Given the description of an element on the screen output the (x, y) to click on. 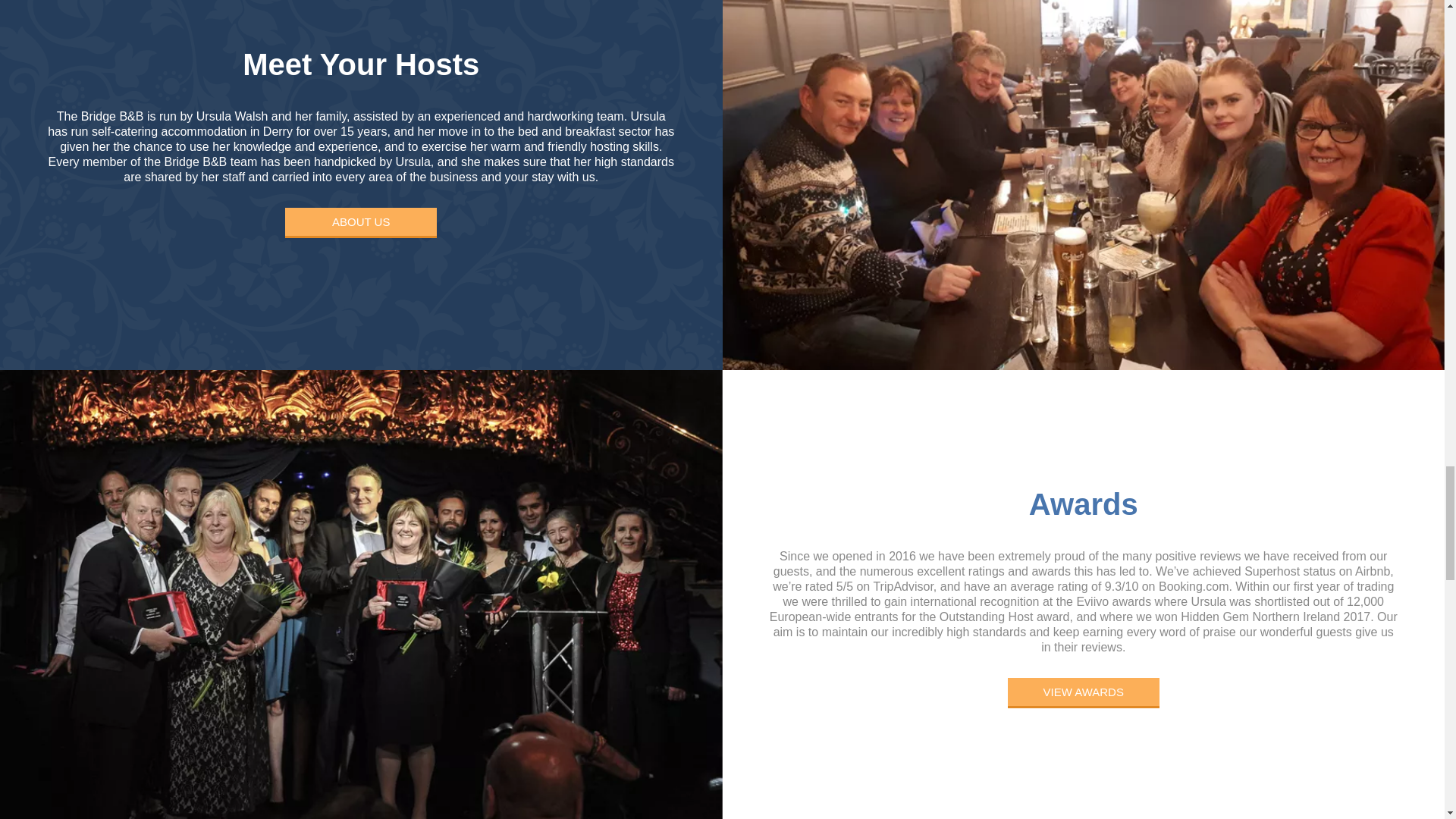
Awards (1083, 511)
VIEW AWARDS (1082, 693)
Meet Your Hosts (361, 71)
ABOUT US (360, 223)
